Given the description of an element on the screen output the (x, y) to click on. 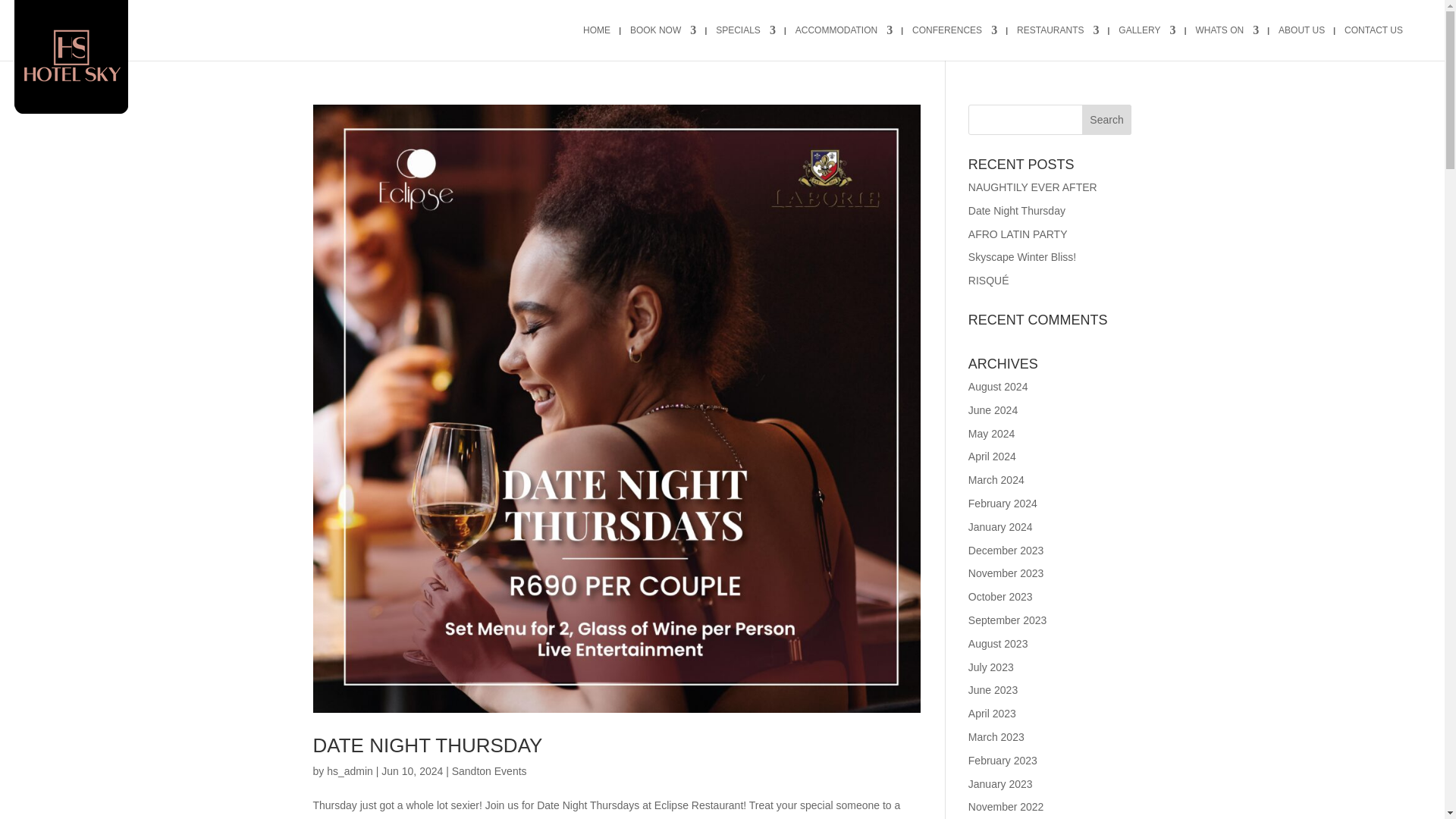
BOOK NOW (662, 42)
GALLERY (1146, 42)
ABOUT US (1301, 42)
CONFERENCES (954, 42)
CONTACT US (1373, 42)
RESTAURANTS (1057, 42)
WHATS ON (1227, 42)
Sandton Events (489, 770)
Search (1106, 119)
ACCOMMODATION (843, 42)
